Given the description of an element on the screen output the (x, y) to click on. 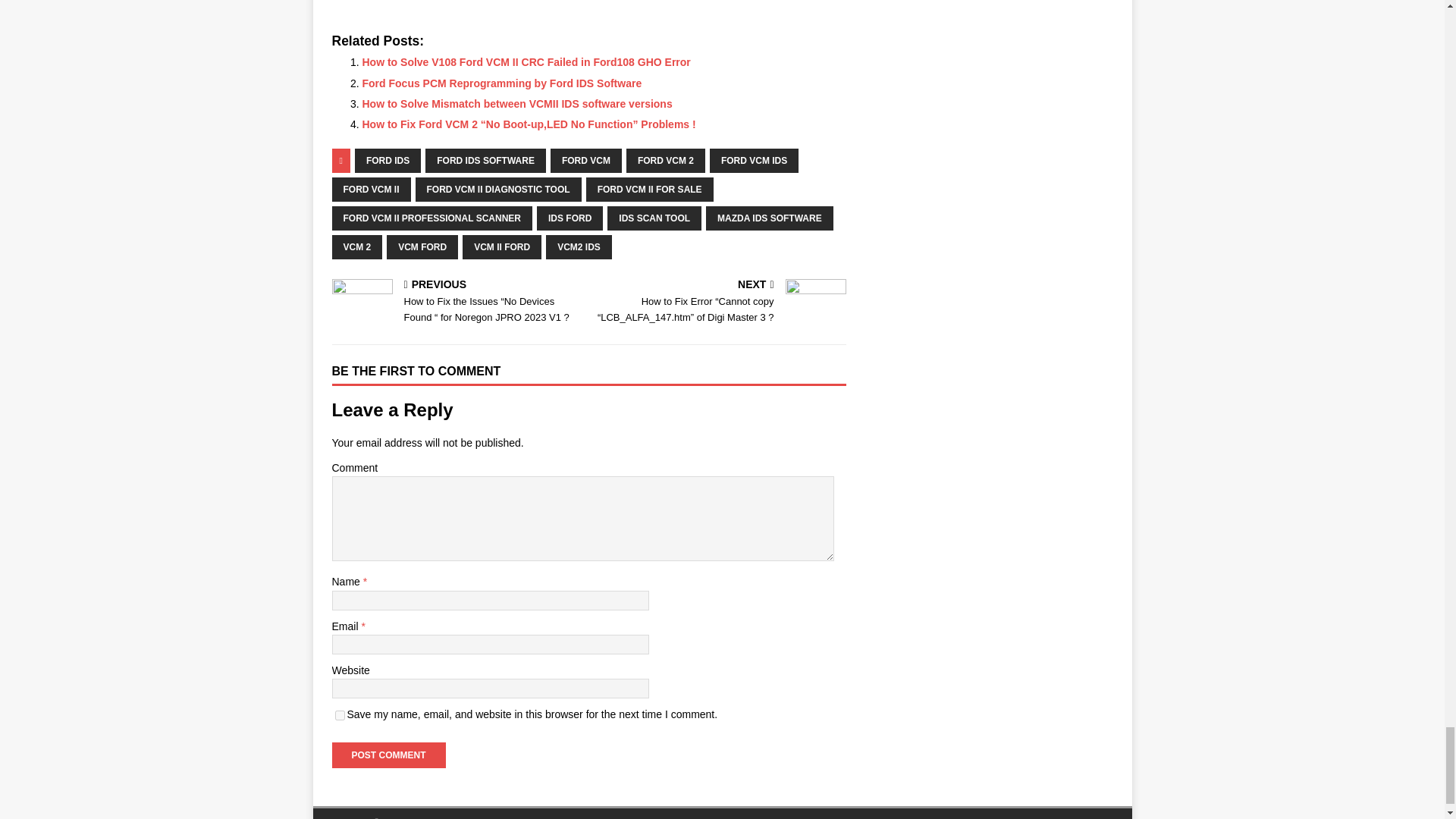
How to Solve Mismatch between VCMII IDS software versions (517, 103)
yes (339, 715)
Post Comment (388, 755)
Ford Focus PCM Reprogramming by Ford IDS Software (502, 82)
